Given the description of an element on the screen output the (x, y) to click on. 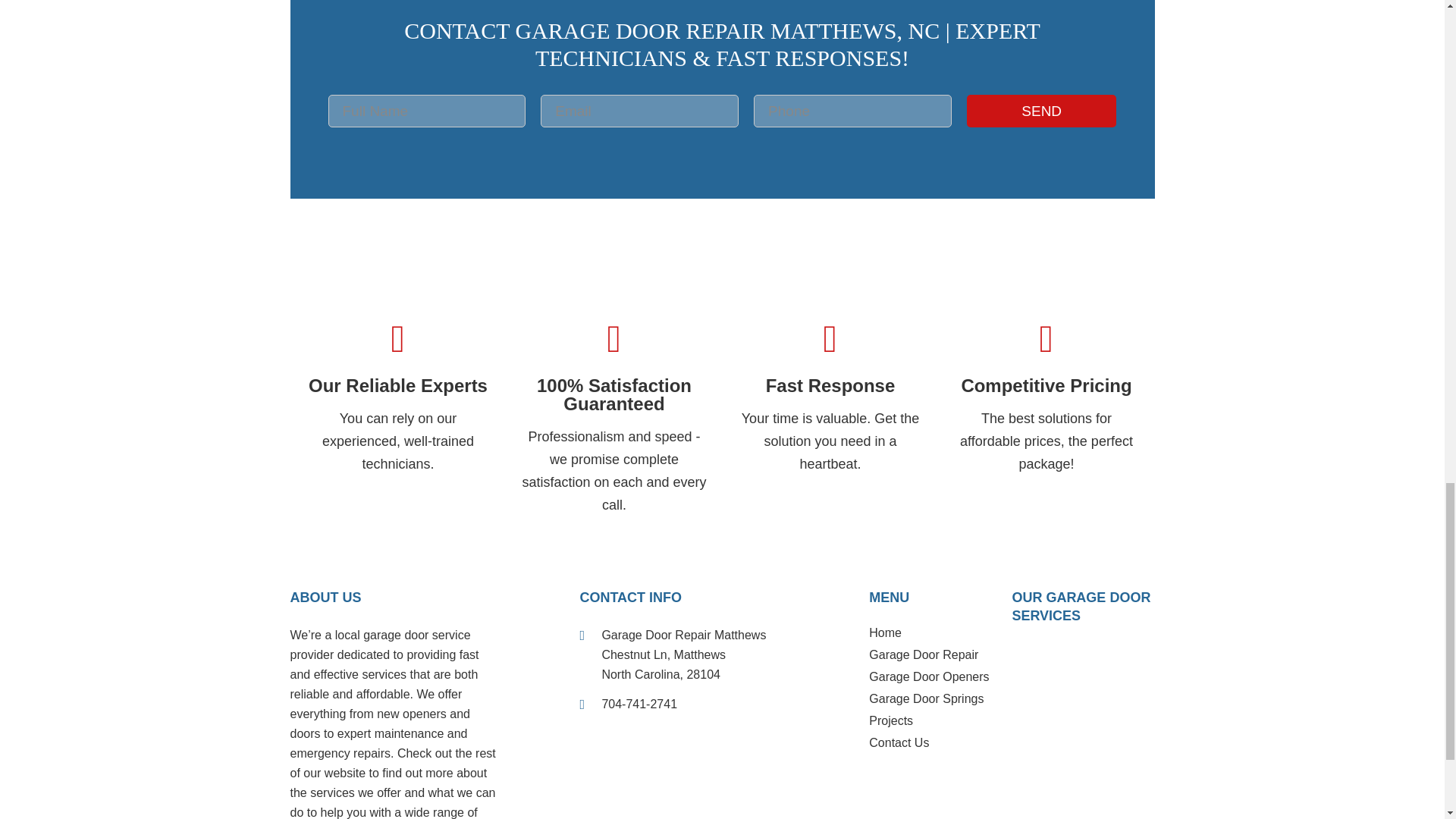
Garage Door Openers (934, 680)
Home (934, 636)
Garage Door Repair (934, 658)
SEND (1041, 111)
SEND (1041, 111)
